Given the description of an element on the screen output the (x, y) to click on. 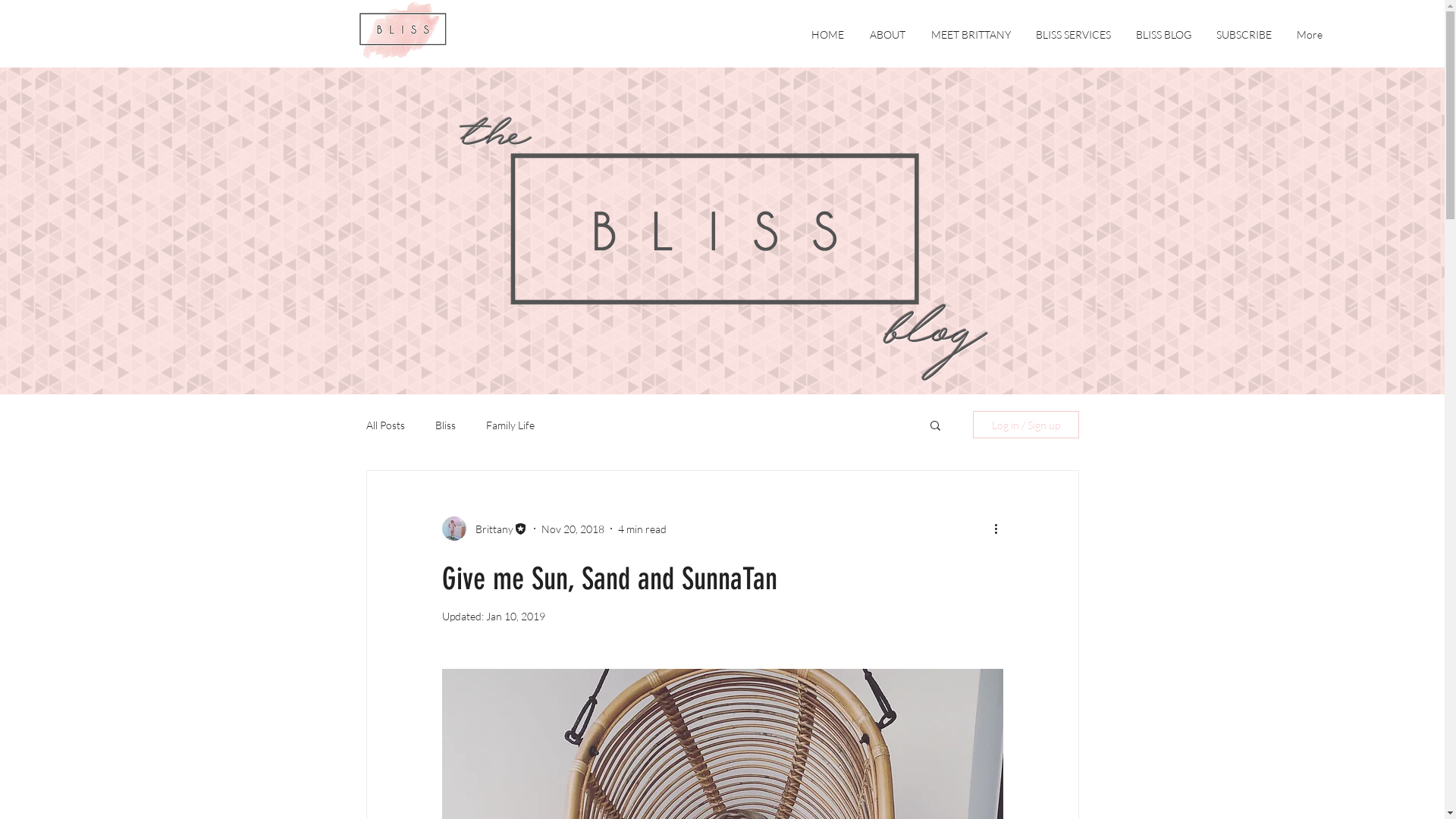
ABOUT Element type: text (887, 34)
MEET BRITTANY Element type: text (970, 34)
BLISS BLOG Element type: text (1163, 34)
All Posts Element type: text (384, 424)
BLISS SERVICES Element type: text (1072, 34)
Log in / Sign up Element type: text (1025, 424)
SUBSCRIBE Element type: text (1243, 34)
HOME Element type: text (827, 34)
Family Life Element type: text (509, 424)
Bliss Element type: text (445, 424)
